Given the description of an element on the screen output the (x, y) to click on. 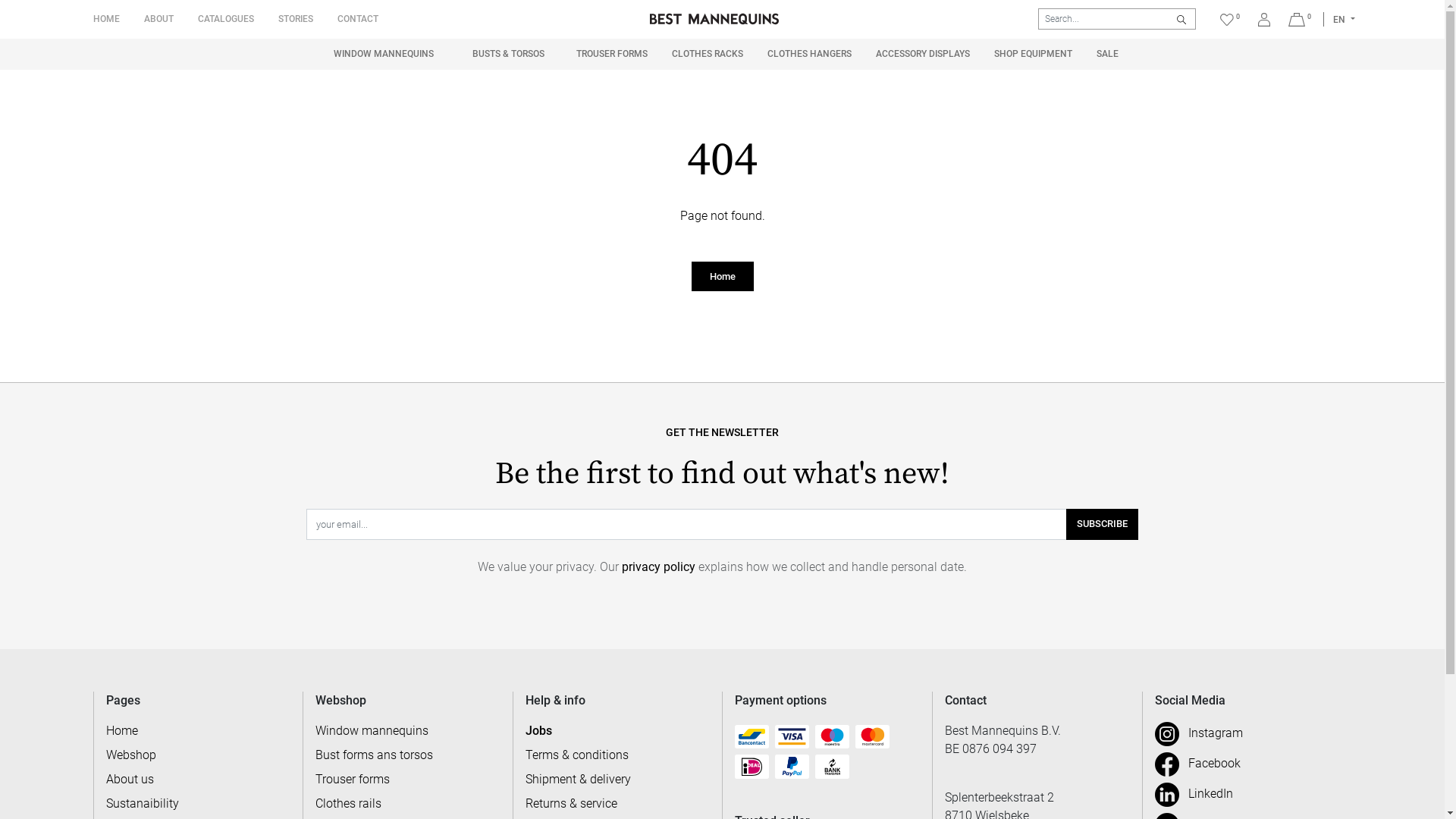
CLOTHES RACKS Element type: text (707, 53)
SALE Element type: text (1107, 53)
0 Element type: text (1299, 19)
Jobs Element type: text (538, 730)
TROUSER FORMS Element type: text (611, 53)
Clothes rails Element type: text (348, 803)
Window mannequins Element type: text (371, 730)
HOME Element type: text (105, 18)
   Facebook Element type: text (1197, 763)
Home Element type: text (122, 730)
Bust forms ans torsos Element type: text (374, 754)
Best Mannequins Element type: hover (714, 18)
About us Element type: text (129, 778)
Shipment & delivery Element type: text (577, 778)
0 Element type: text (1229, 18)
Sustanaibility Element type: text (142, 803)
Search Element type: hover (1181, 18)
BUSTS & TORSOS Element type: text (508, 53)
ACCESSORY DISPLAYS Element type: text (922, 53)
Terms & conditions Element type: text (576, 754)
Returns & service Element type: text (571, 803)
SHOP EQUIPMENT Element type: text (1033, 53)
privacy policy Element type: text (658, 566)
Webshop Element type: text (131, 754)
SUBSCRIBE Element type: text (1102, 523)
Trouser forms Element type: text (352, 778)
CONTACT Element type: text (356, 18)
   Instagram Element type: text (1198, 732)
ABOUT Element type: text (158, 18)
CATALOGUES Element type: text (225, 18)
EN Element type: text (1343, 19)
CLOTHES HANGERS Element type: text (809, 53)
Home Element type: text (722, 276)
   LinkedIn Element type: text (1193, 793)
WINDOW MANNEQUINS Element type: text (383, 53)
STORIES Element type: text (294, 18)
